Given the description of an element on the screen output the (x, y) to click on. 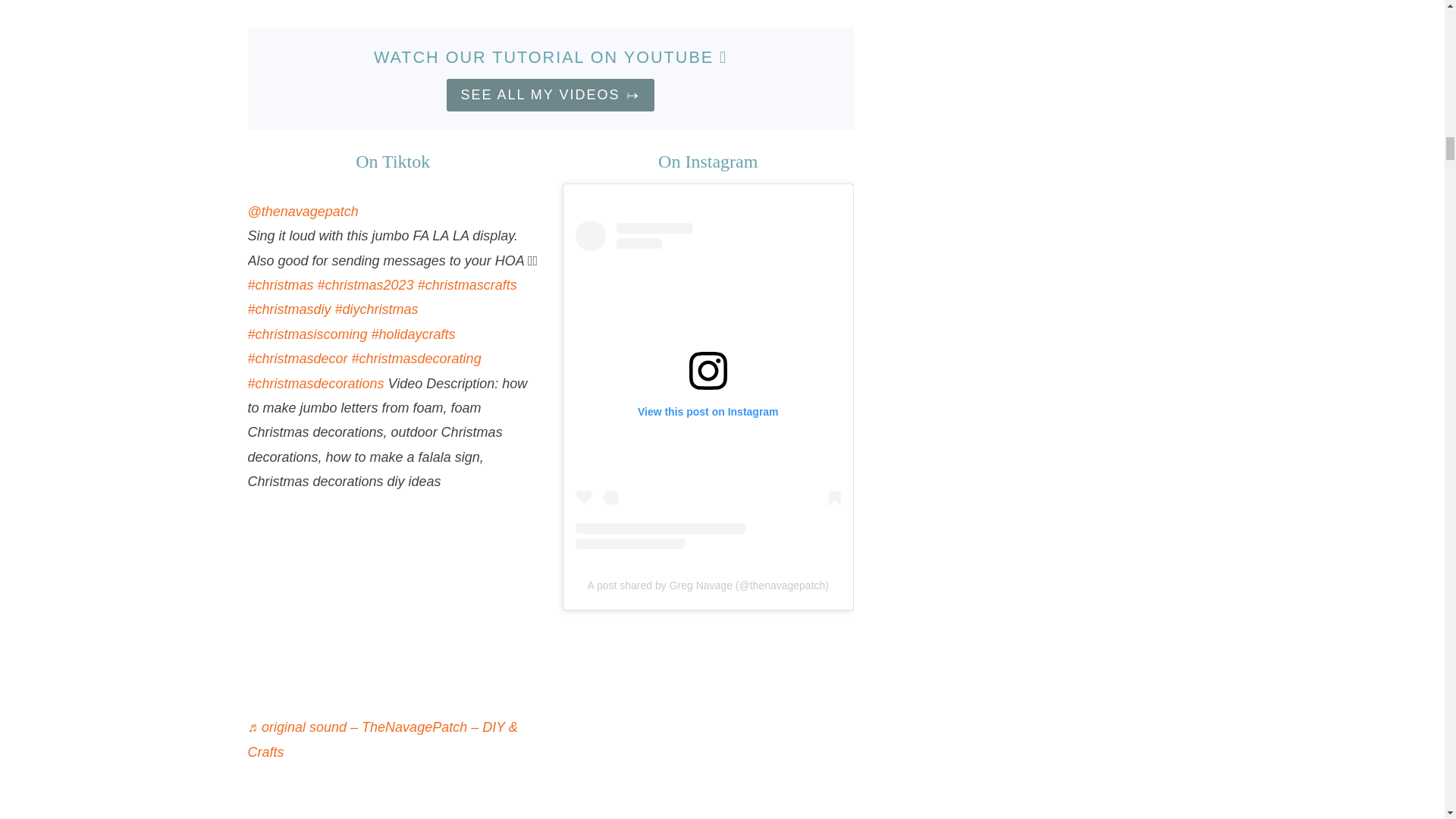
christmas (280, 284)
diychristmas (376, 309)
christmascrafts (466, 284)
christmas2023 (365, 284)
christmasdiy (288, 309)
